Given the description of an element on the screen output the (x, y) to click on. 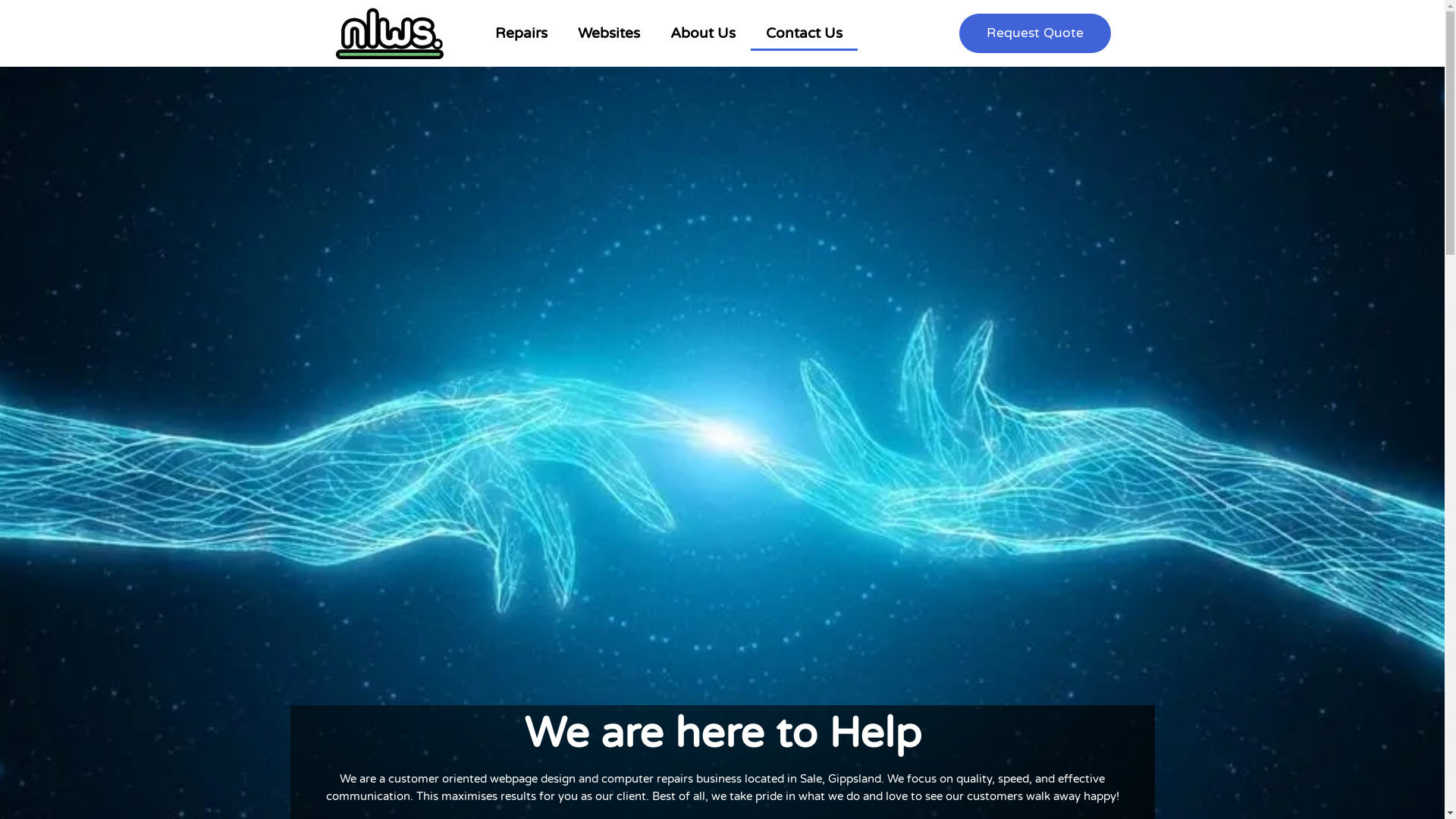
Repairs Element type: text (520, 32)
Websites Element type: text (608, 32)
About Us Element type: text (702, 32)
Request Quote Element type: text (1034, 33)
Contact Us Element type: text (803, 32)
